Given the description of an element on the screen output the (x, y) to click on. 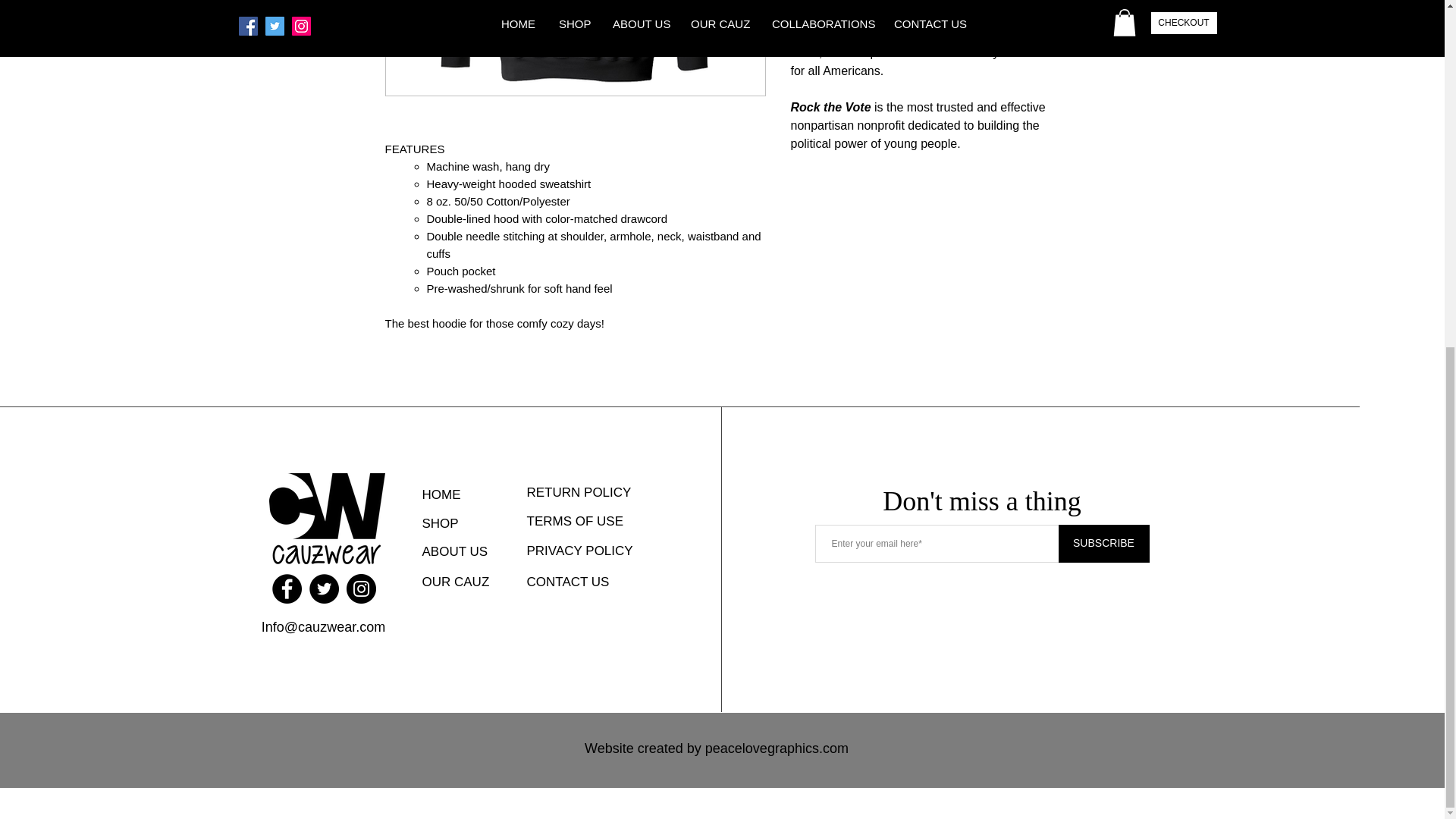
OUR CAUZ (460, 582)
ABOUT US (458, 552)
SHOP (451, 523)
peacelovegraphics.com (776, 748)
PRIVACY POLICY (579, 551)
CONTACT US (568, 582)
RETURN POLICY (579, 492)
SUBSCRIBE (1104, 543)
TERMS OF USE (574, 521)
HOME (451, 494)
